Given the description of an element on the screen output the (x, y) to click on. 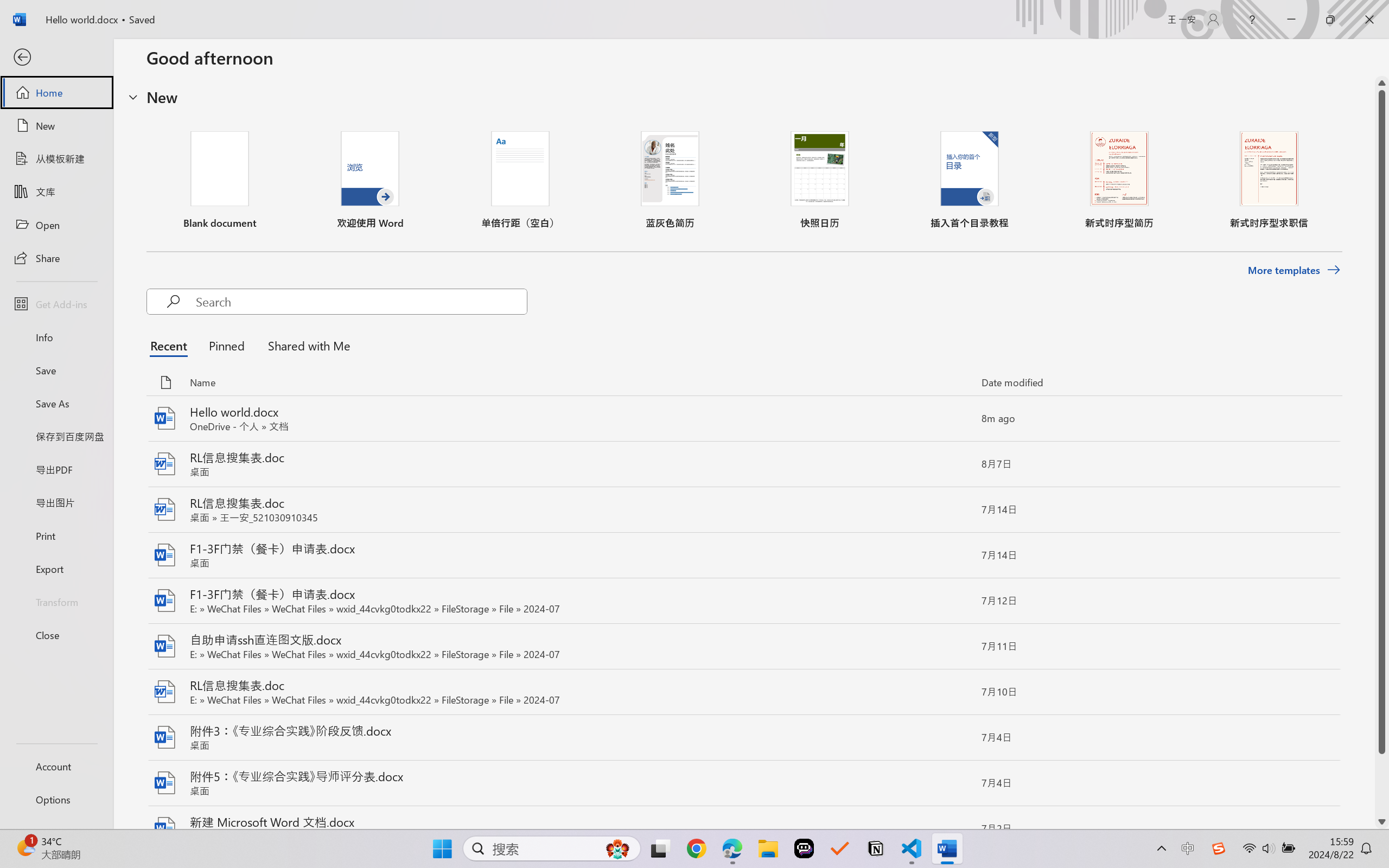
Account (56, 765)
Minimize (1291, 19)
Line up (1382, 83)
Save (56, 370)
Class: NetUIScrollBar (1382, 452)
Open (56, 224)
AutomationID: BadgeAnchorLargeTicker (24, 847)
Get Add-ins (56, 303)
Export (56, 568)
Transform (56, 601)
Shared with Me (305, 345)
Help (1252, 19)
